Given the description of an element on the screen output the (x, y) to click on. 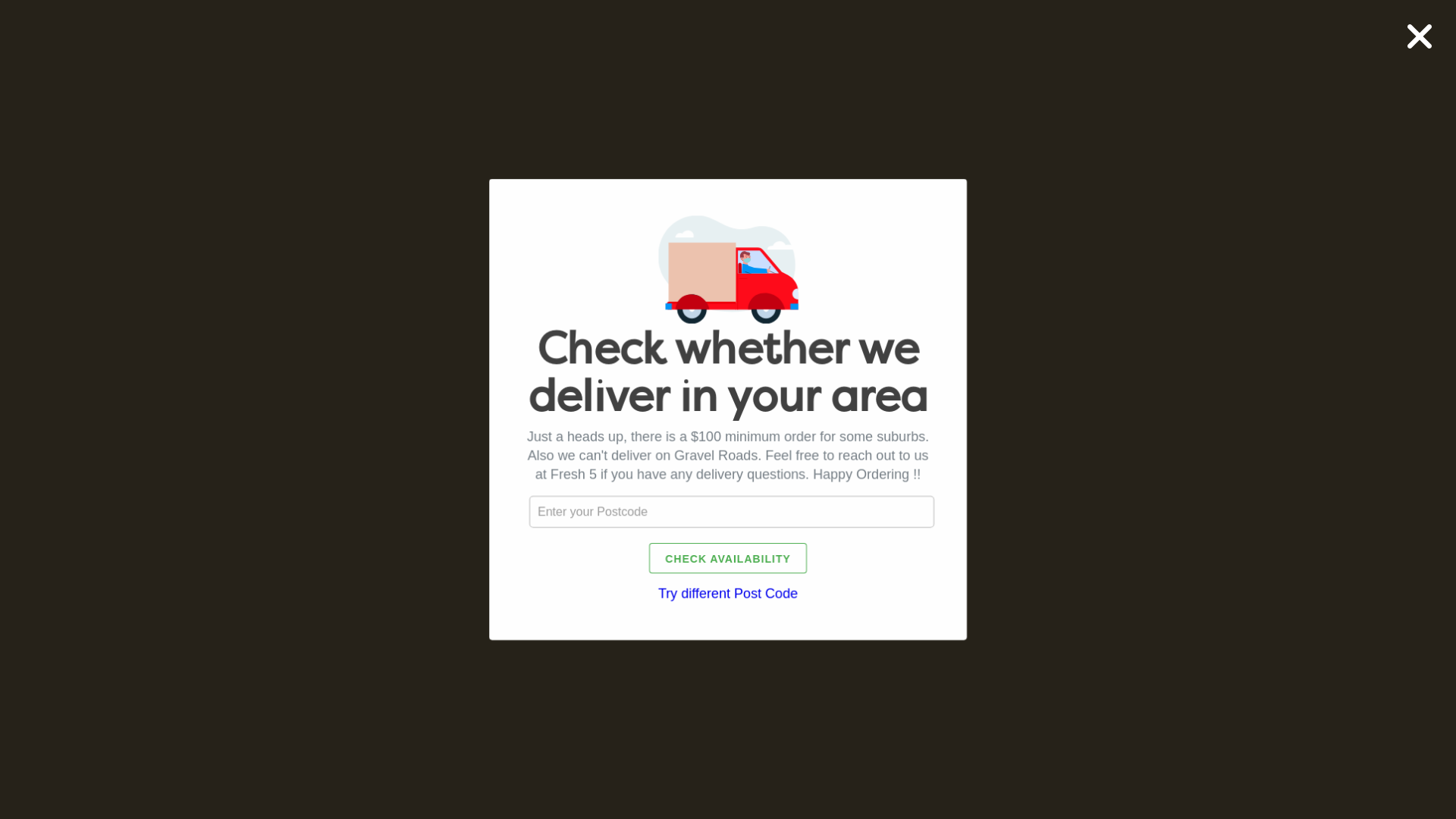
Return to Homepage Element type: text (728, 509)
Try different Post Code Element type: text (727, 593)
CHECK AVAILABILITY Element type: text (727, 557)
